Given the description of an element on the screen output the (x, y) to click on. 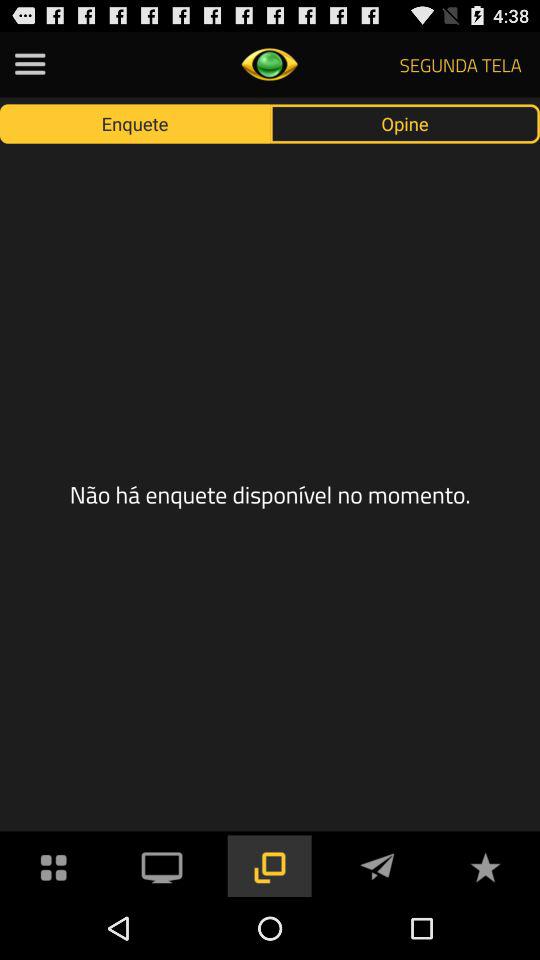
go to settings/options (54, 865)
